Given the description of an element on the screen output the (x, y) to click on. 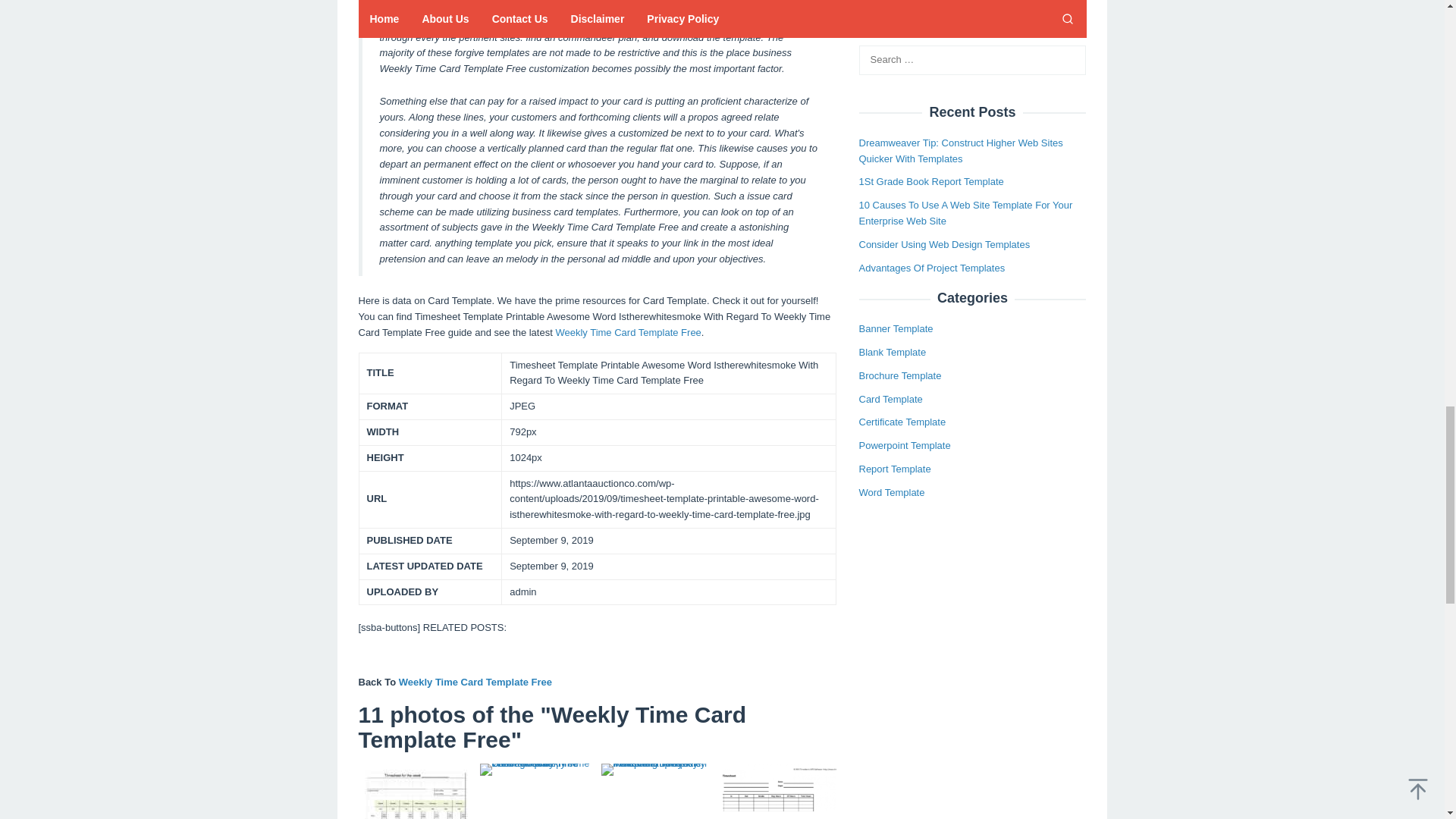
Weekly Time Card Template Free (474, 681)
Weekly Time Card Template Free (627, 332)
Weekly Time Card Template Free (474, 681)
